Given the description of an element on the screen output the (x, y) to click on. 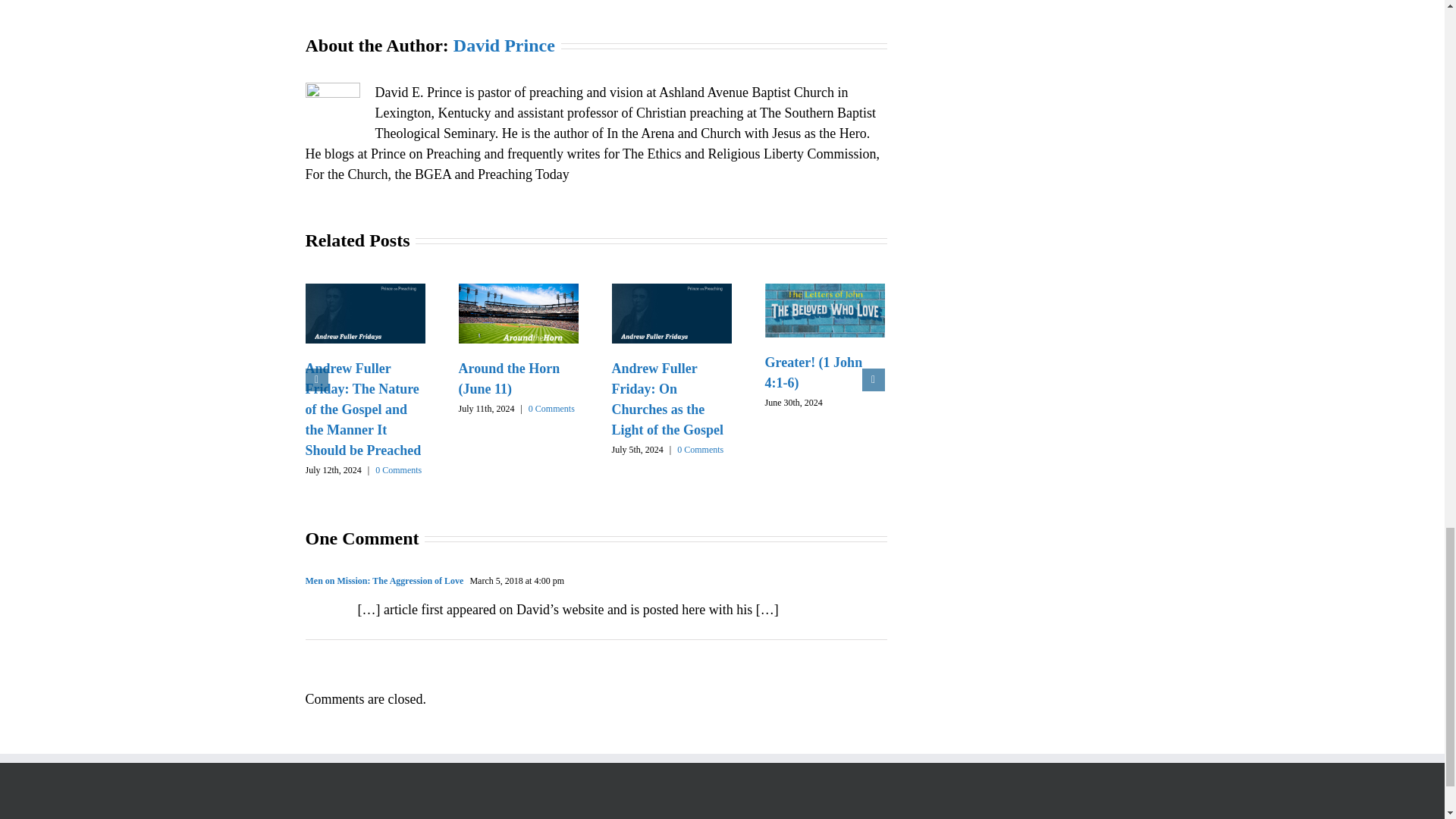
Posts by David Prince (503, 45)
